Given the description of an element on the screen output the (x, y) to click on. 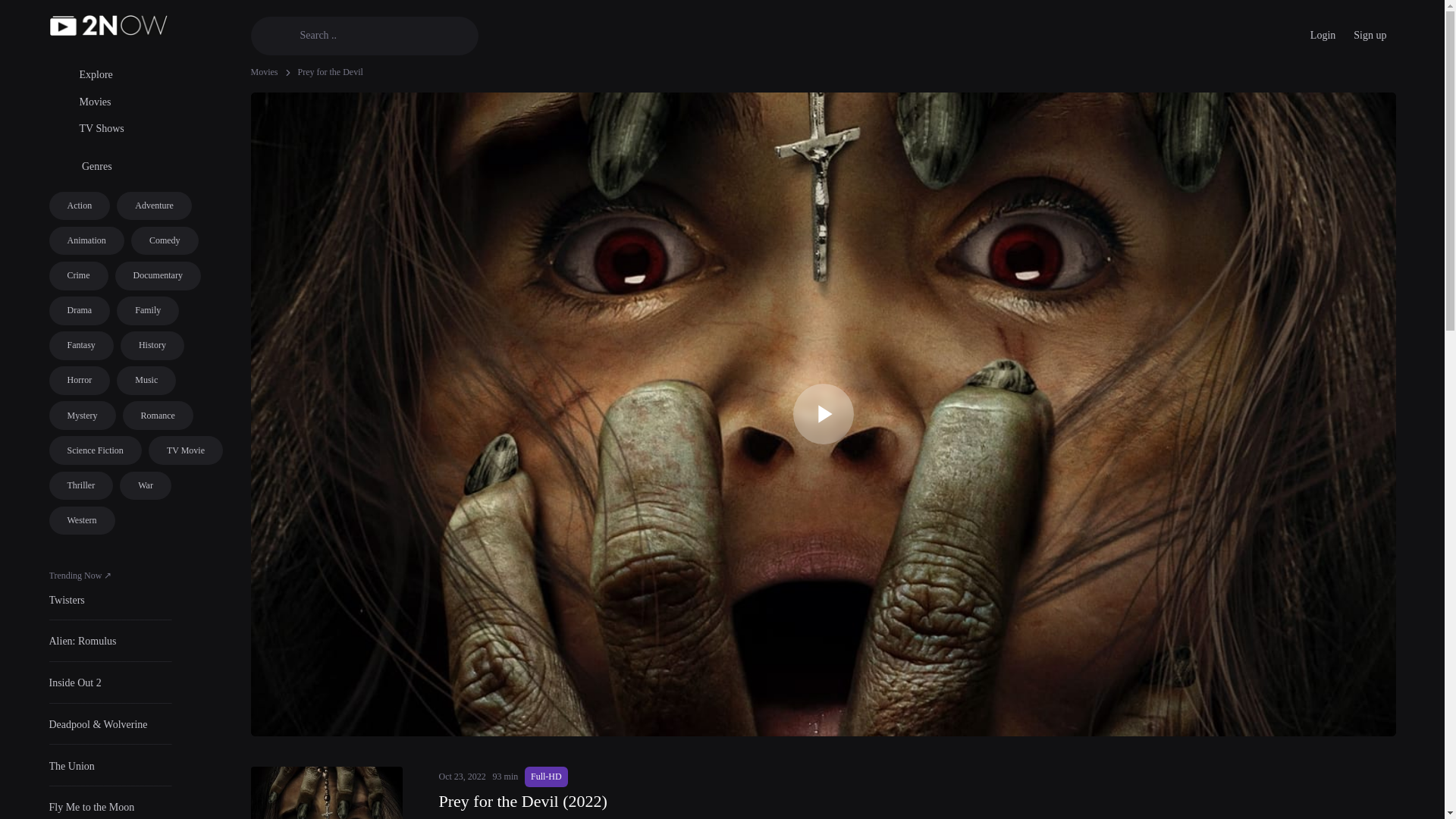
Documentary (157, 275)
Comedy (164, 240)
Western (81, 520)
Movies (264, 71)
Crime (77, 275)
Family (147, 310)
Login (1322, 35)
Science Fiction (94, 450)
Animation (85, 240)
TV Movie (185, 450)
